Given the description of an element on the screen output the (x, y) to click on. 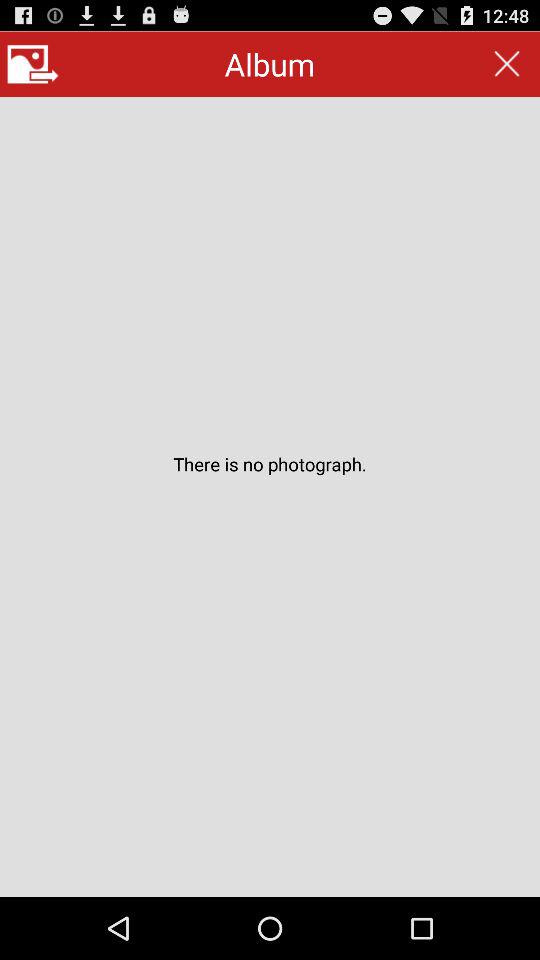
click button at the top left corner (32, 64)
